Given the description of an element on the screen output the (x, y) to click on. 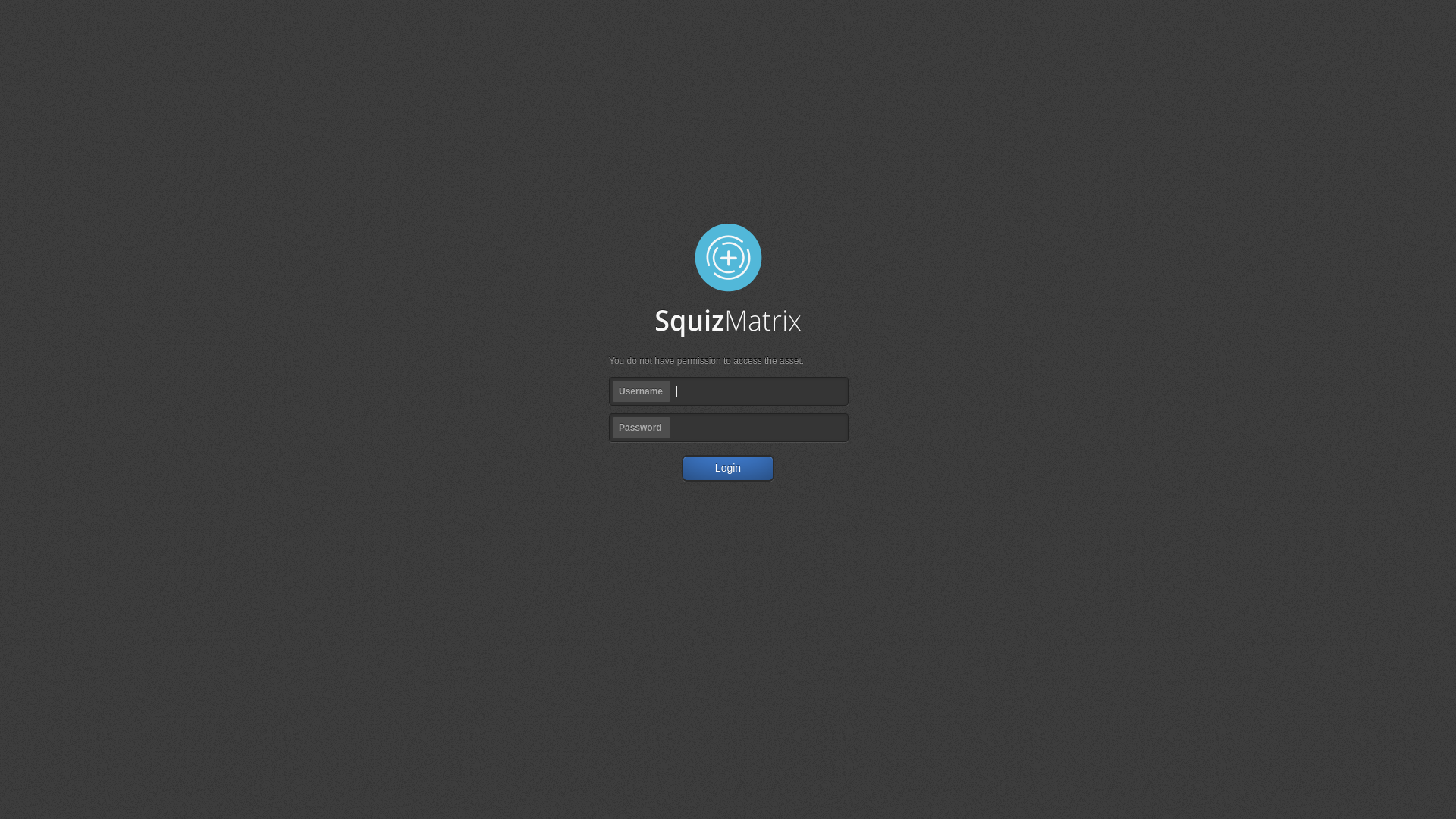
Login Element type: text (727, 468)
